Given the description of an element on the screen output the (x, y) to click on. 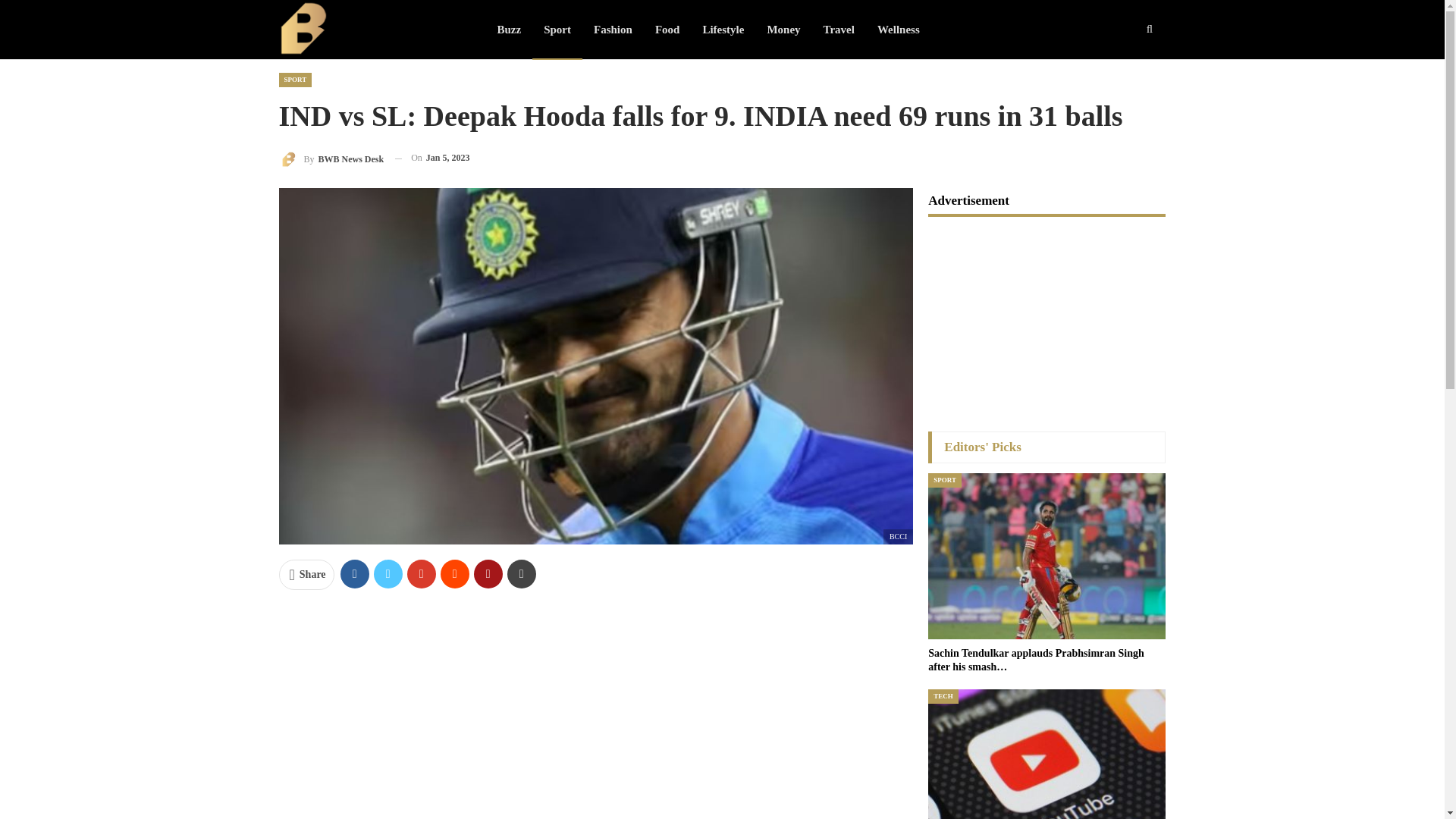
Money (782, 29)
Browse Author Articles (331, 158)
By BWB News Desk (331, 158)
Lifestyle (722, 29)
Fashion (612, 29)
Wellness (898, 29)
Travel (839, 29)
SPORT (296, 79)
